Given the description of an element on the screen output the (x, y) to click on. 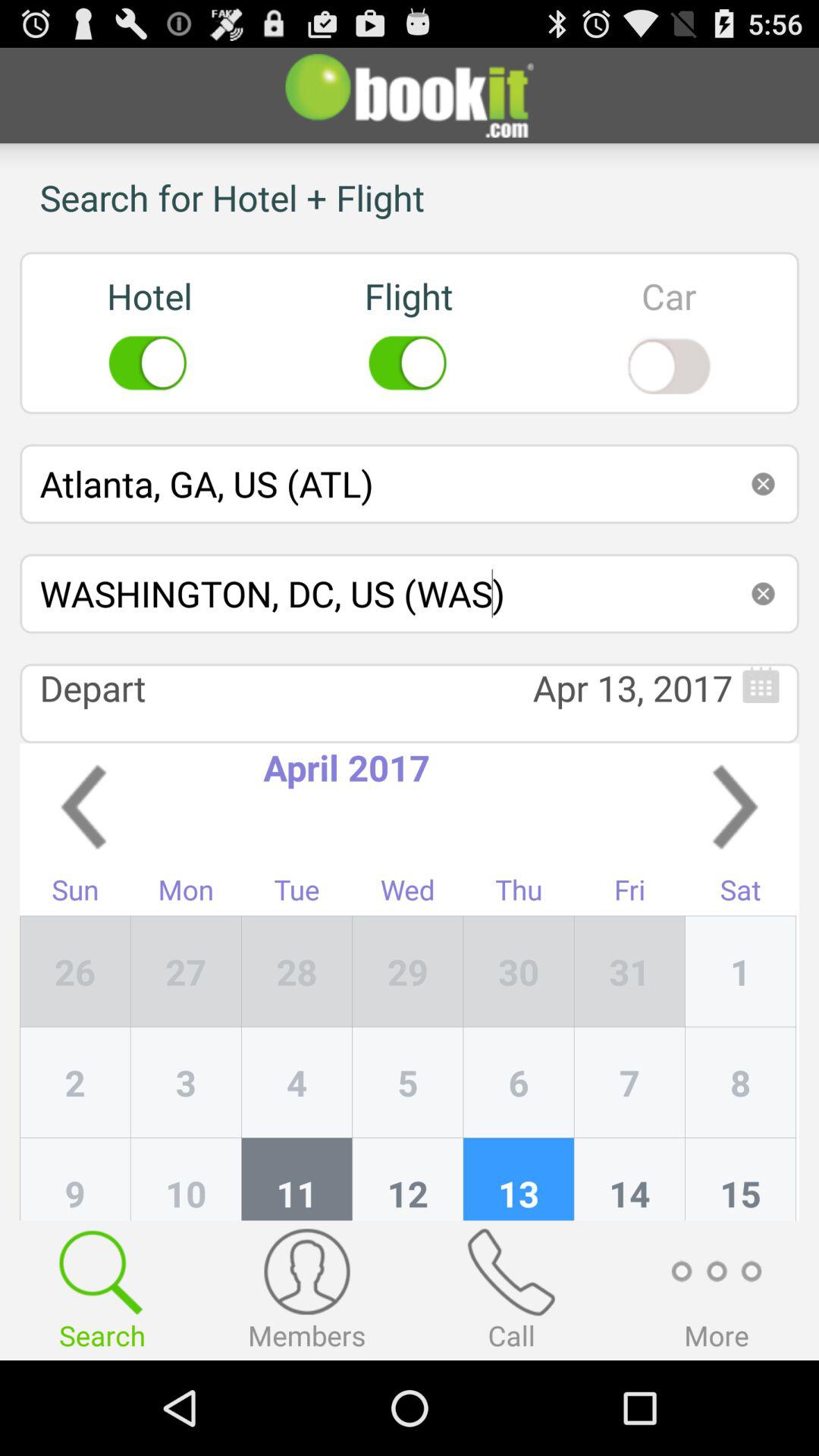
select the app next to tue item (407, 971)
